Given the description of an element on the screen output the (x, y) to click on. 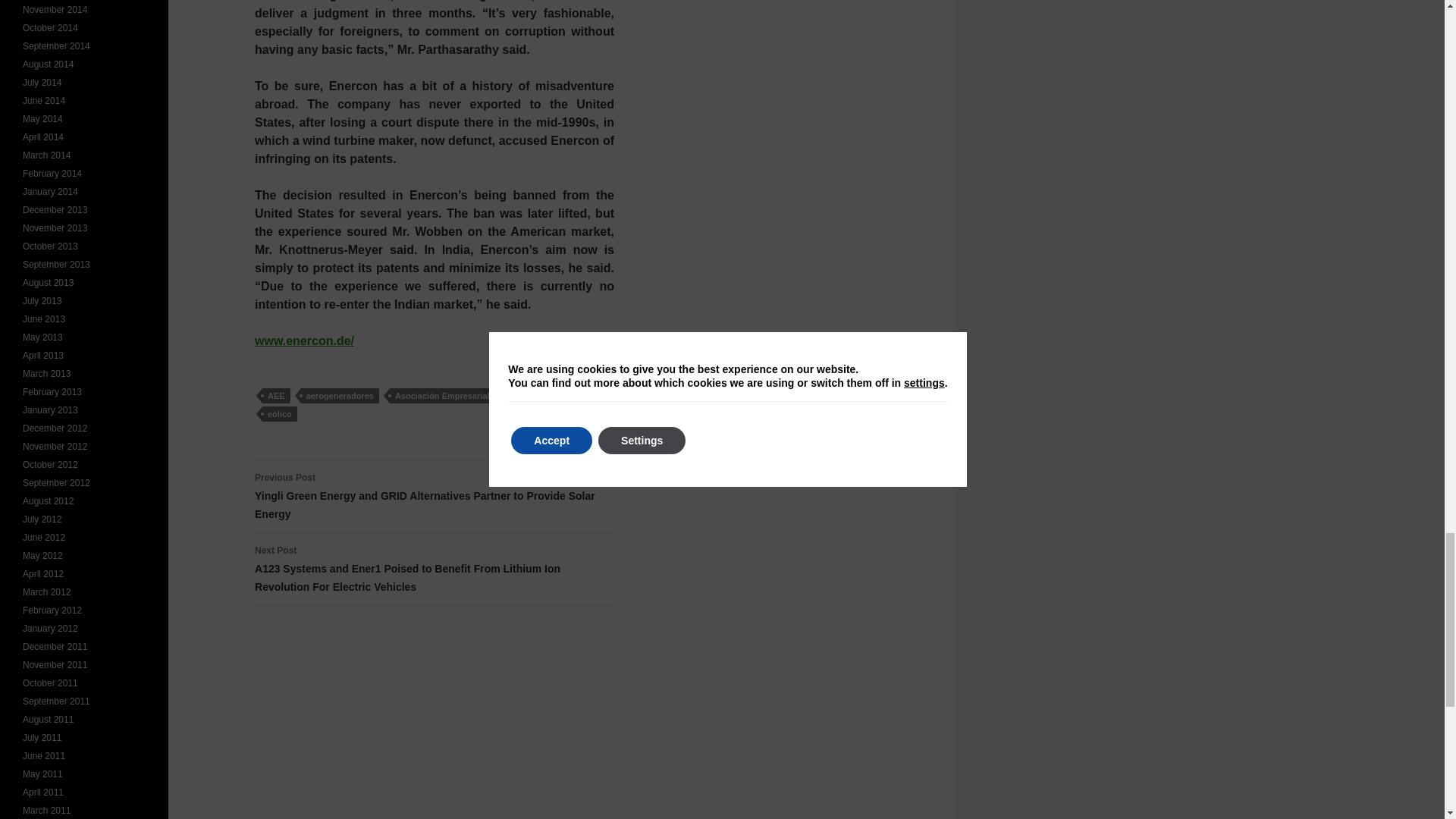
aerogeneradores (339, 395)
AEE (275, 395)
